Given the description of an element on the screen output the (x, y) to click on. 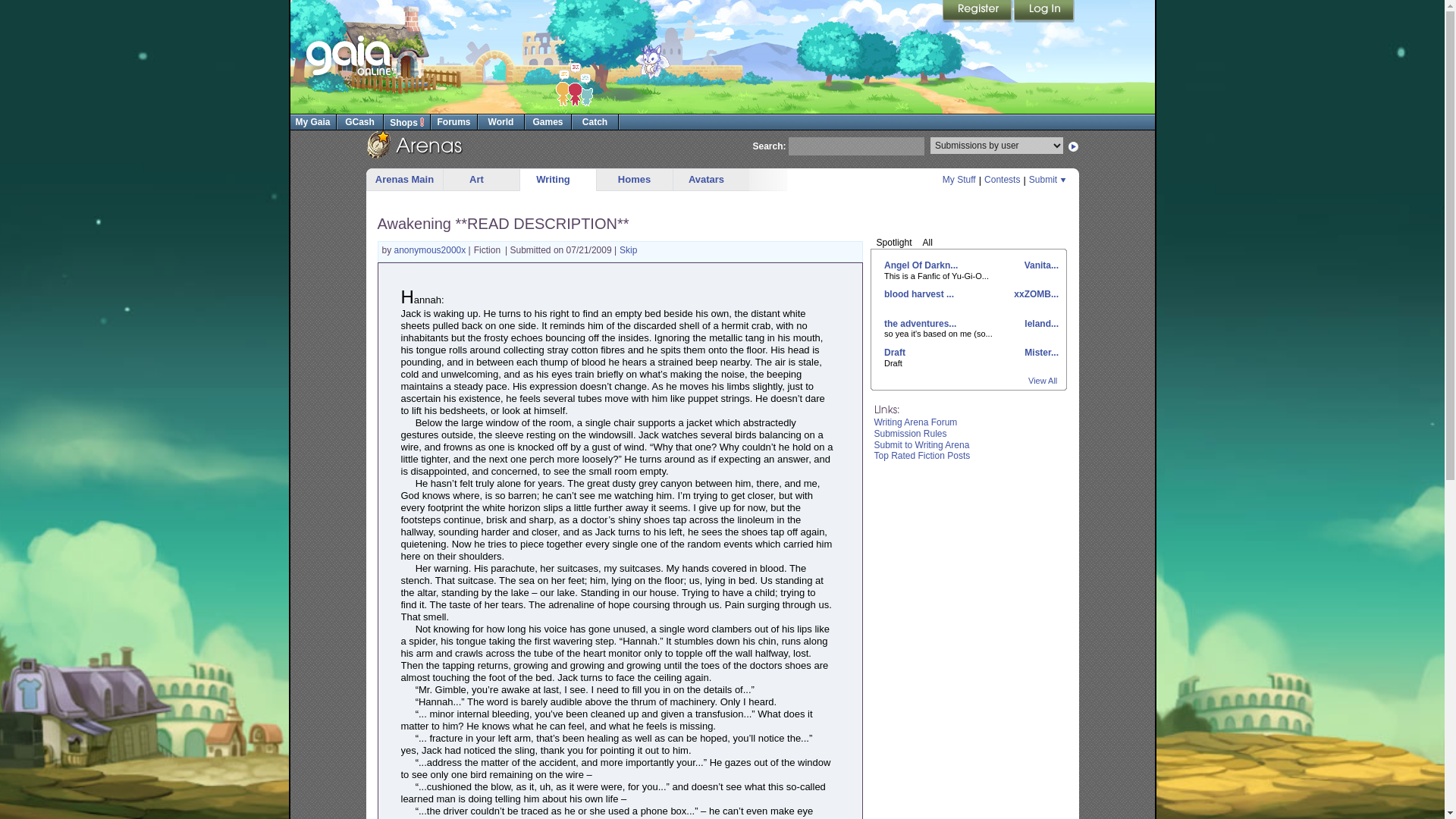
Register (977, 11)
Shops ! (406, 121)
View anonymous2000x's profile (431, 249)
Login (1043, 11)
Flutter Fantasy (652, 58)
My Gaia (311, 121)
Create a free account now (977, 11)
GCash (358, 121)
submit (1074, 146)
submit (1074, 146)
